Given the description of an element on the screen output the (x, y) to click on. 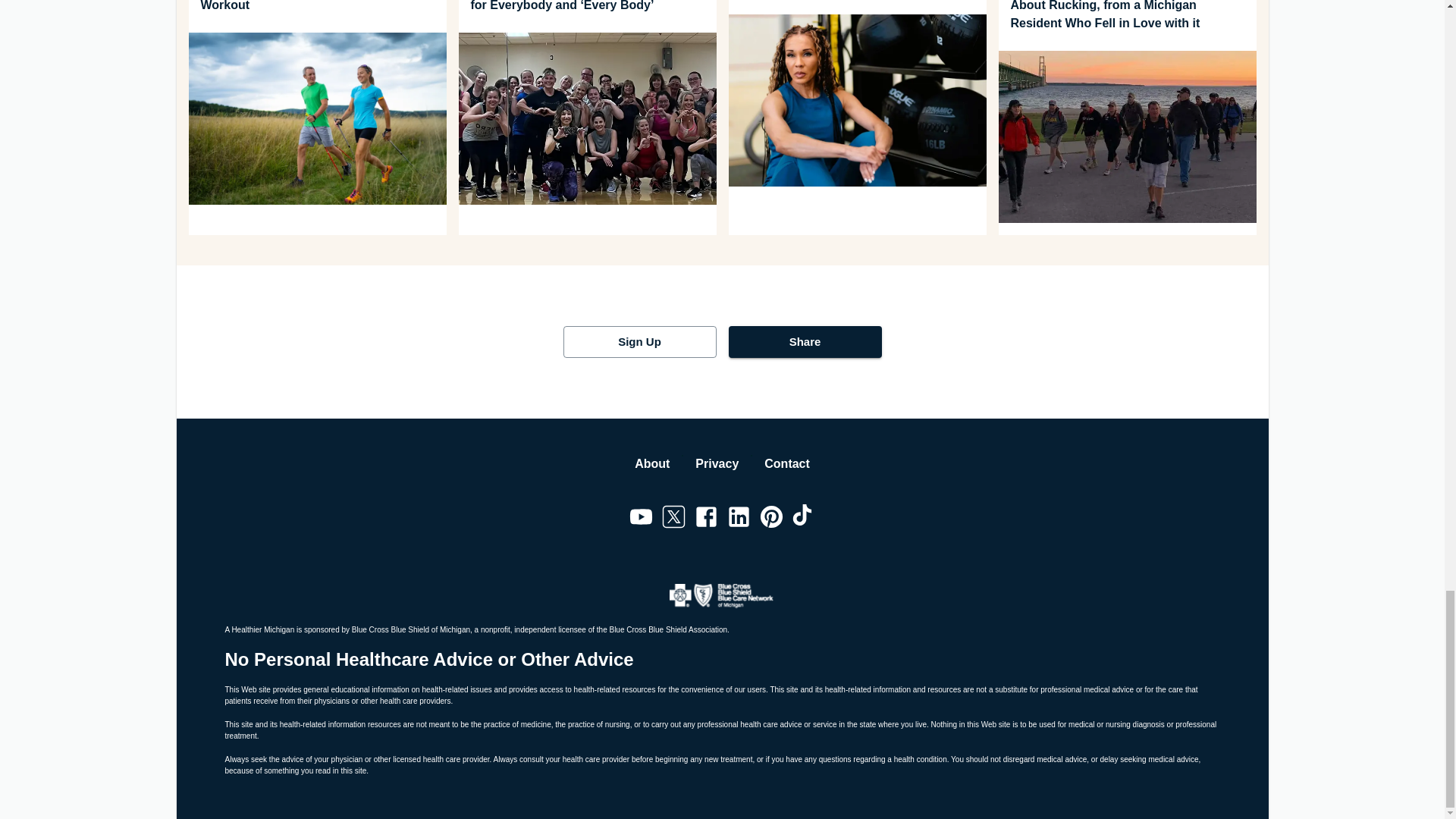
Nordic Walking Provides a Full-Body Workout (316, 7)
